Given the description of an element on the screen output the (x, y) to click on. 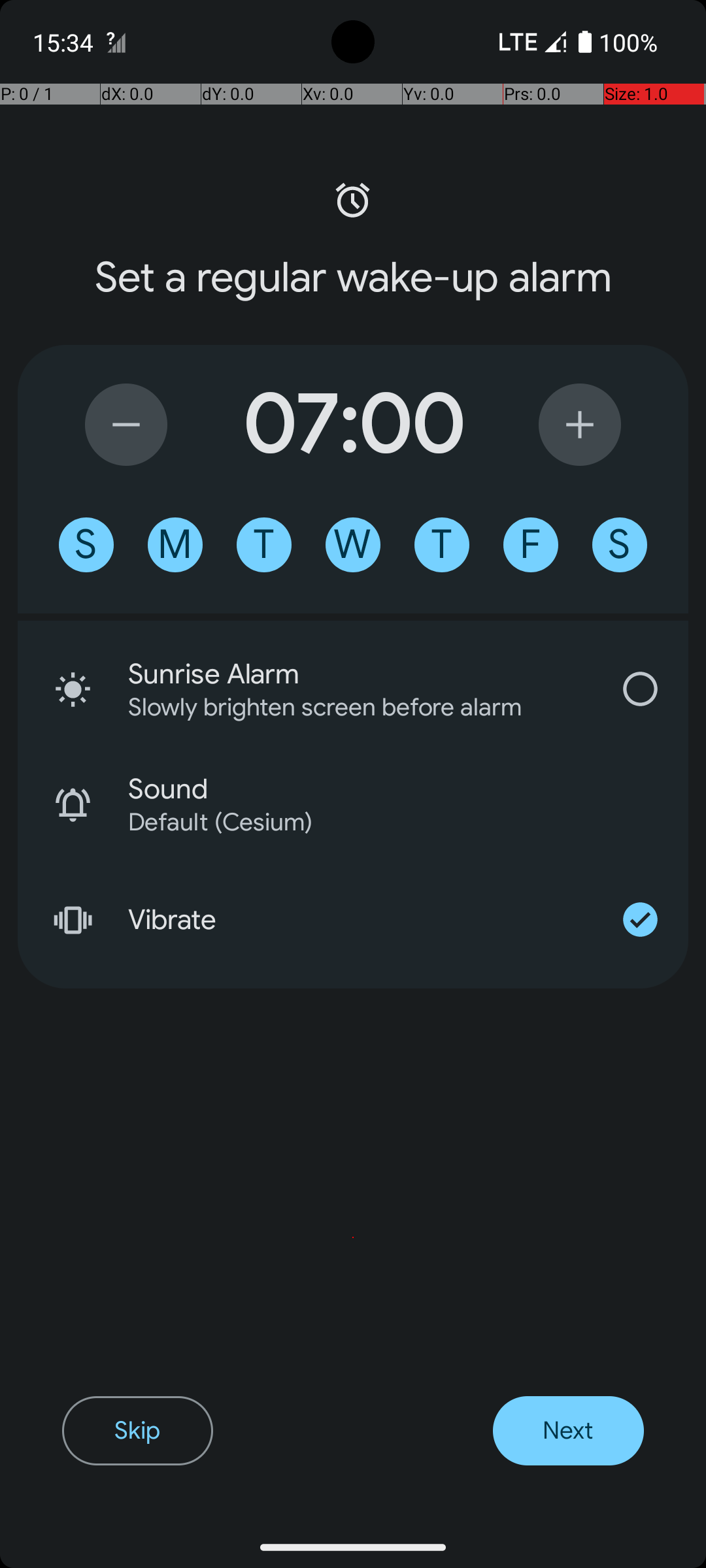
Set a regular wake-up alarm Element type: android.widget.TextView (352, 277)
Fifteen minutes earlier Element type: android.widget.ImageView (125, 424)
07:00 Element type: android.widget.TextView (353, 424)
Fifteen minutes later Element type: android.widget.ImageView (579, 424)
Skip Element type: android.widget.Button (137, 1430)
Sunrise Alarm Element type: android.widget.TextView (360, 673)
Slowly brighten screen before alarm Element type: android.widget.TextView (342, 706)
Sound Element type: android.widget.TextView (408, 788)
Default (Cesium) Element type: android.widget.TextView (390, 821)
Vibrate Element type: android.widget.TextView (360, 919)
